Given the description of an element on the screen output the (x, y) to click on. 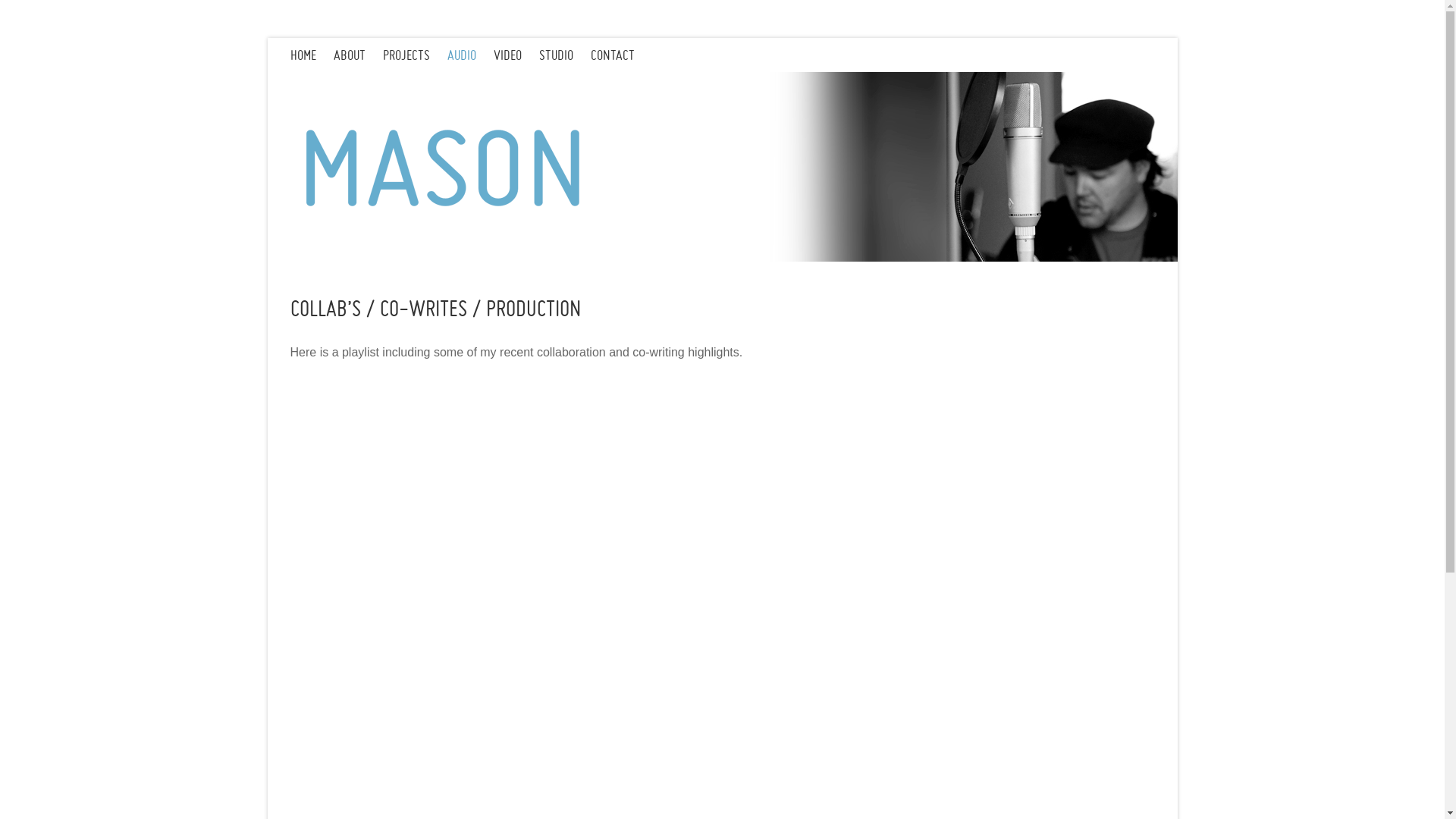
STUDIO Element type: text (563, 54)
ABOUT Element type: text (357, 54)
AUDIO Element type: text (470, 54)
CONTACT Element type: text (620, 54)
HOME Element type: text (310, 54)
PROJECTS Element type: text (414, 54)
VIDEO Element type: text (515, 54)
